Given the description of an element on the screen output the (x, y) to click on. 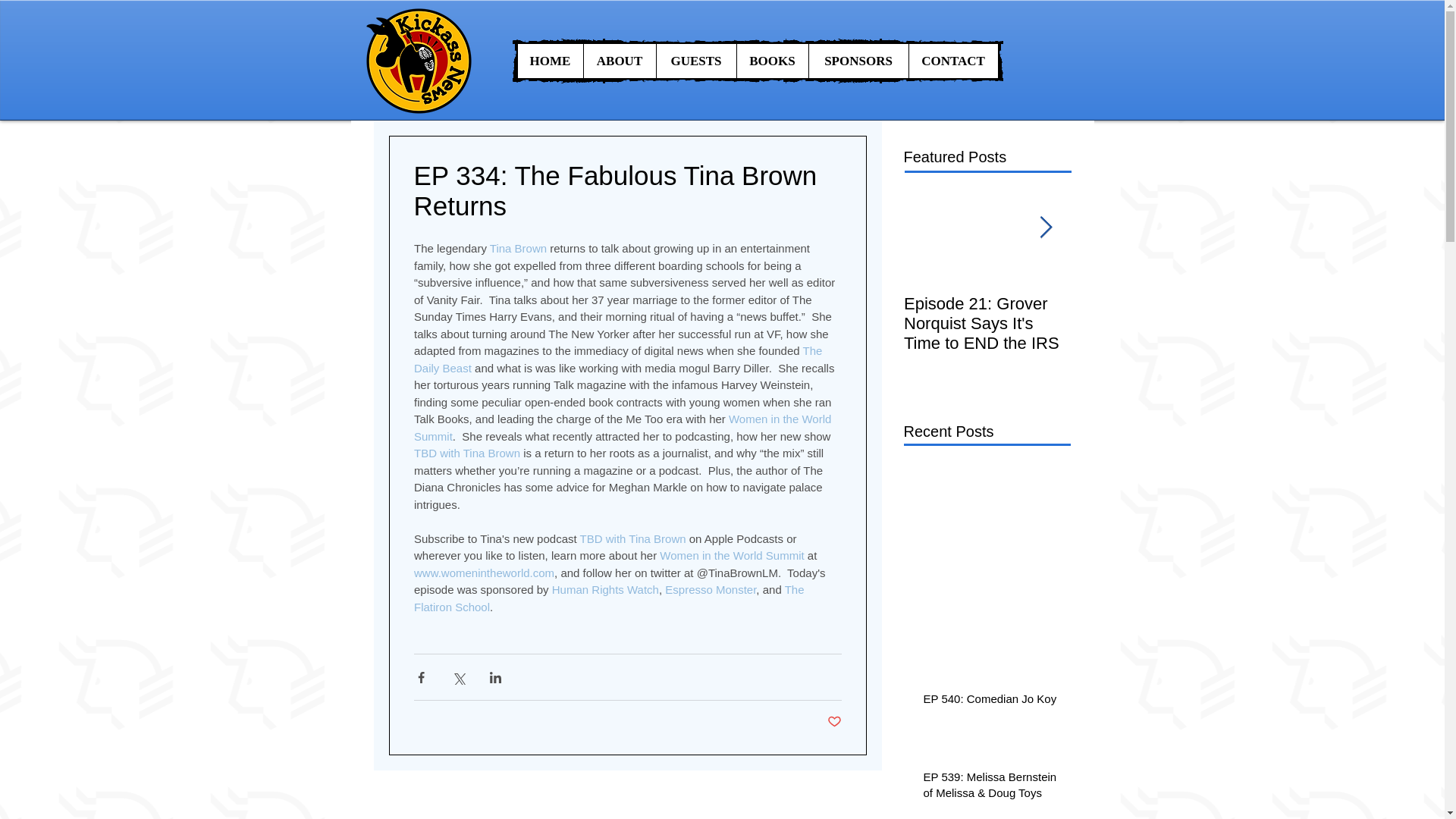
Human Rights Watch (604, 589)
HOME (549, 60)
ABOUT (618, 60)
EP 540: Comedian Jo Koy (992, 701)
Espresso Monster (710, 589)
CONTACT (952, 60)
GUESTS (695, 60)
Women in the World Summit (731, 554)
TBD with Tina Brown (466, 452)
Post not marked as liked (834, 722)
